Given the description of an element on the screen output the (x, y) to click on. 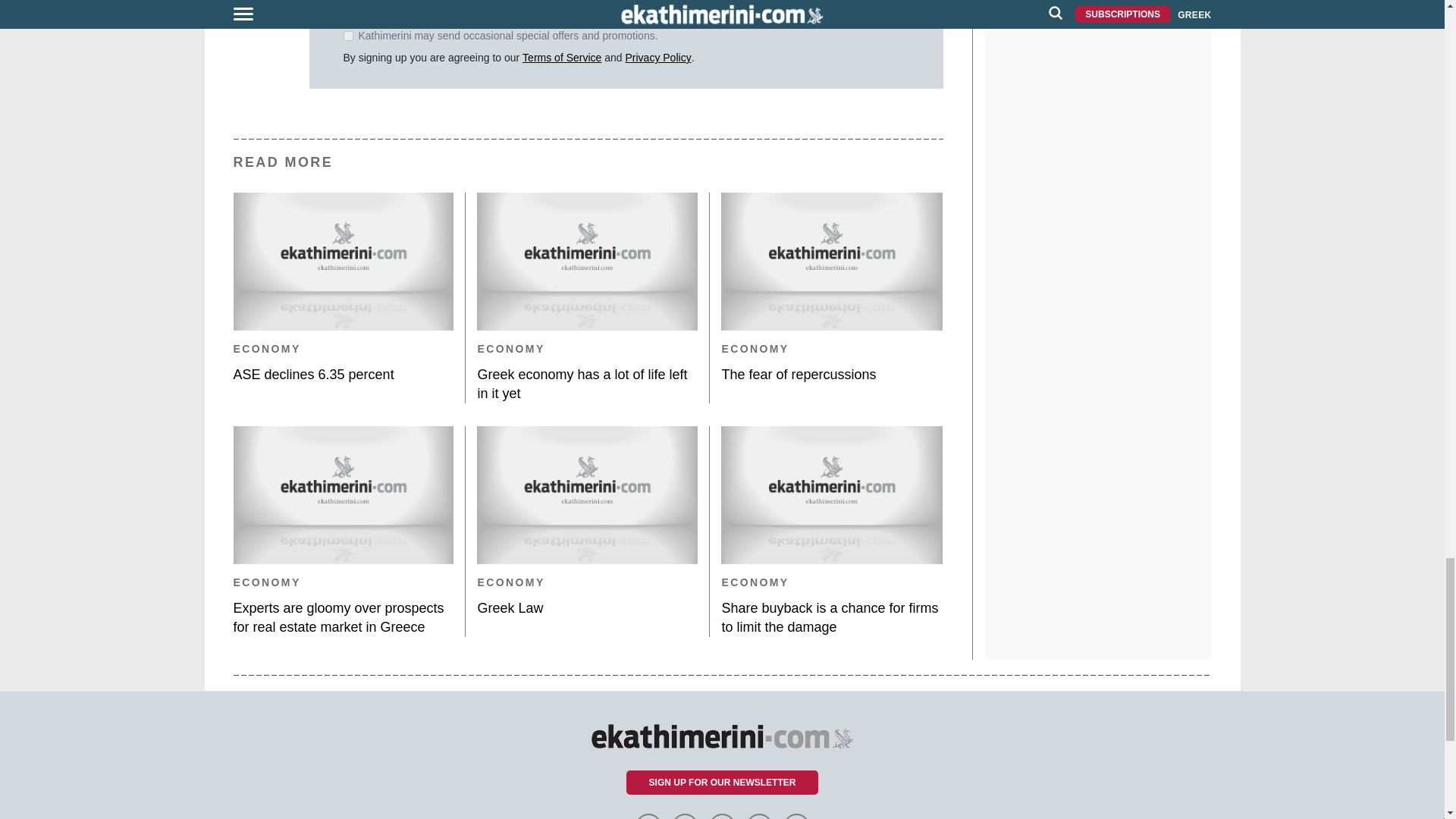
on (347, 35)
